Given the description of an element on the screen output the (x, y) to click on. 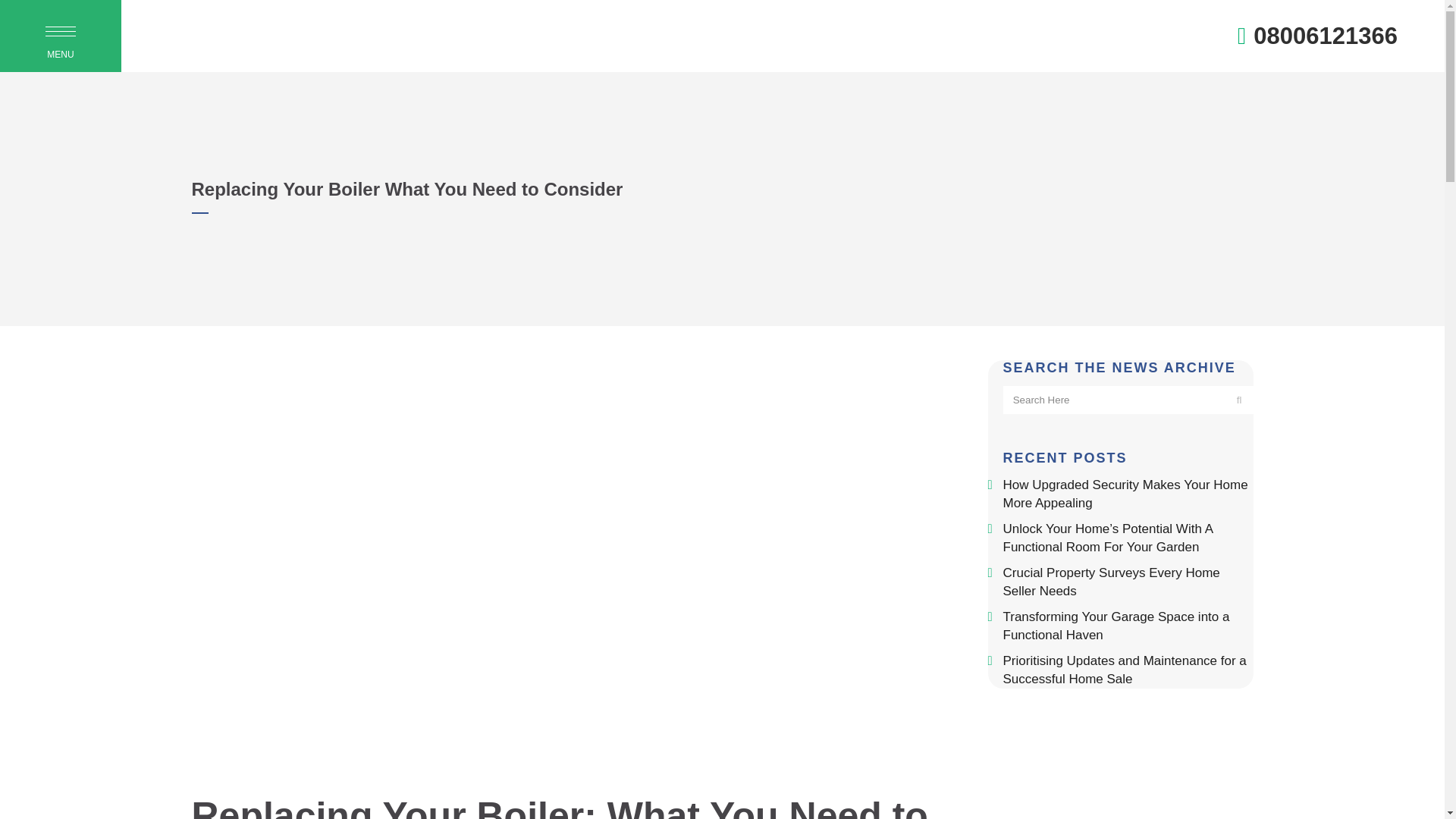
How Upgraded Security Makes Your Home More Appealing (1125, 493)
Crucial Property Surveys Every Home Seller Needs (1111, 581)
08006121366 (1325, 35)
Transforming Your Garage Space into a Functional Haven (1115, 625)
